Given the description of an element on the screen output the (x, y) to click on. 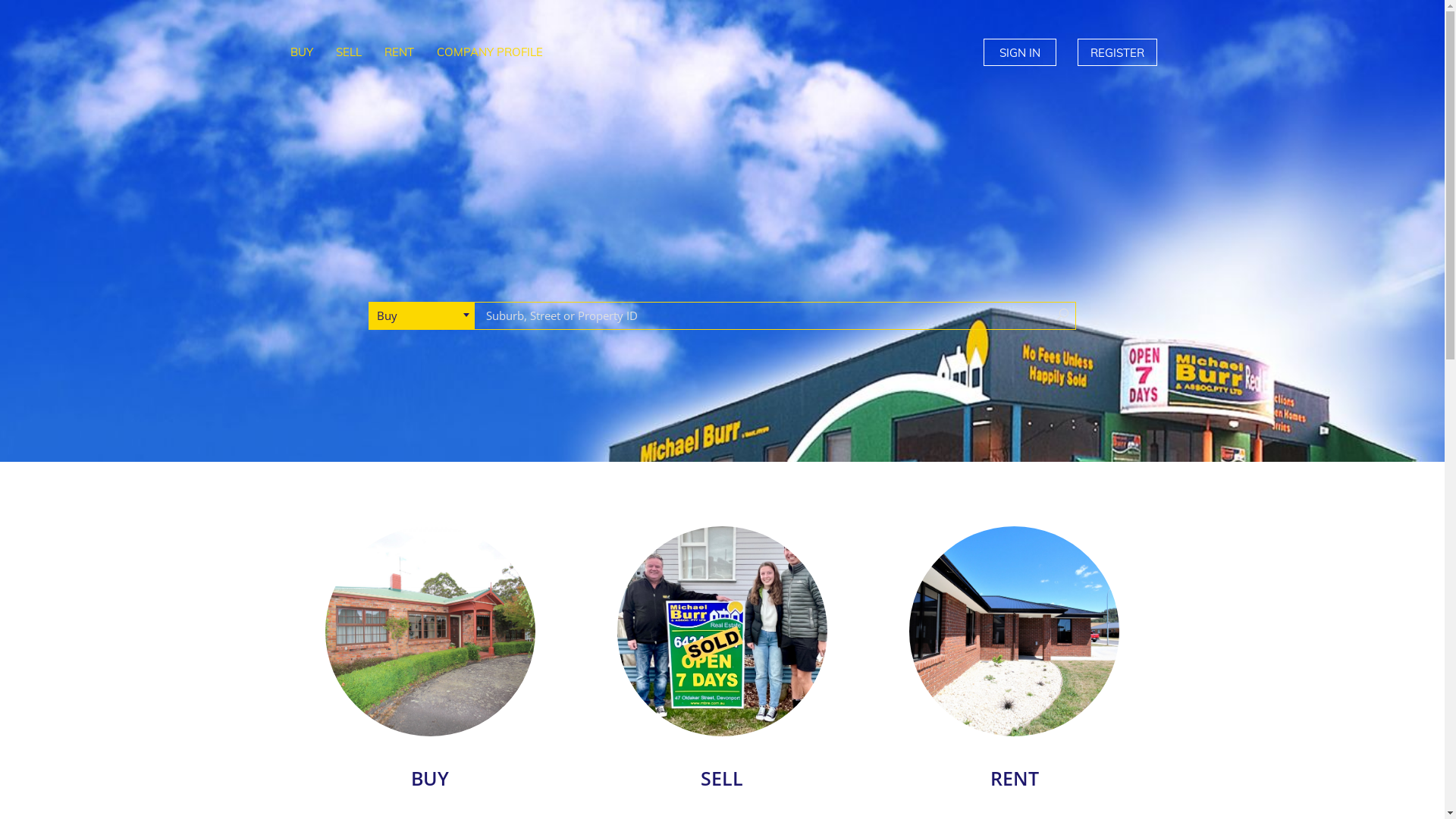
COMPANY PROFILE Element type: text (488, 51)
Sell Element type: hover (722, 631)
SELL Element type: text (348, 51)
RENT Element type: hover (1014, 631)
BUY Element type: text (301, 51)
RENT Element type: text (1014, 779)
BUY Element type: hover (430, 631)
SELL Element type: text (722, 779)
REGISTER Element type: text (1116, 51)
RENT Element type: text (399, 51)
SIGN IN Element type: text (1018, 51)
BUY Element type: text (429, 779)
